Given the description of an element on the screen output the (x, y) to click on. 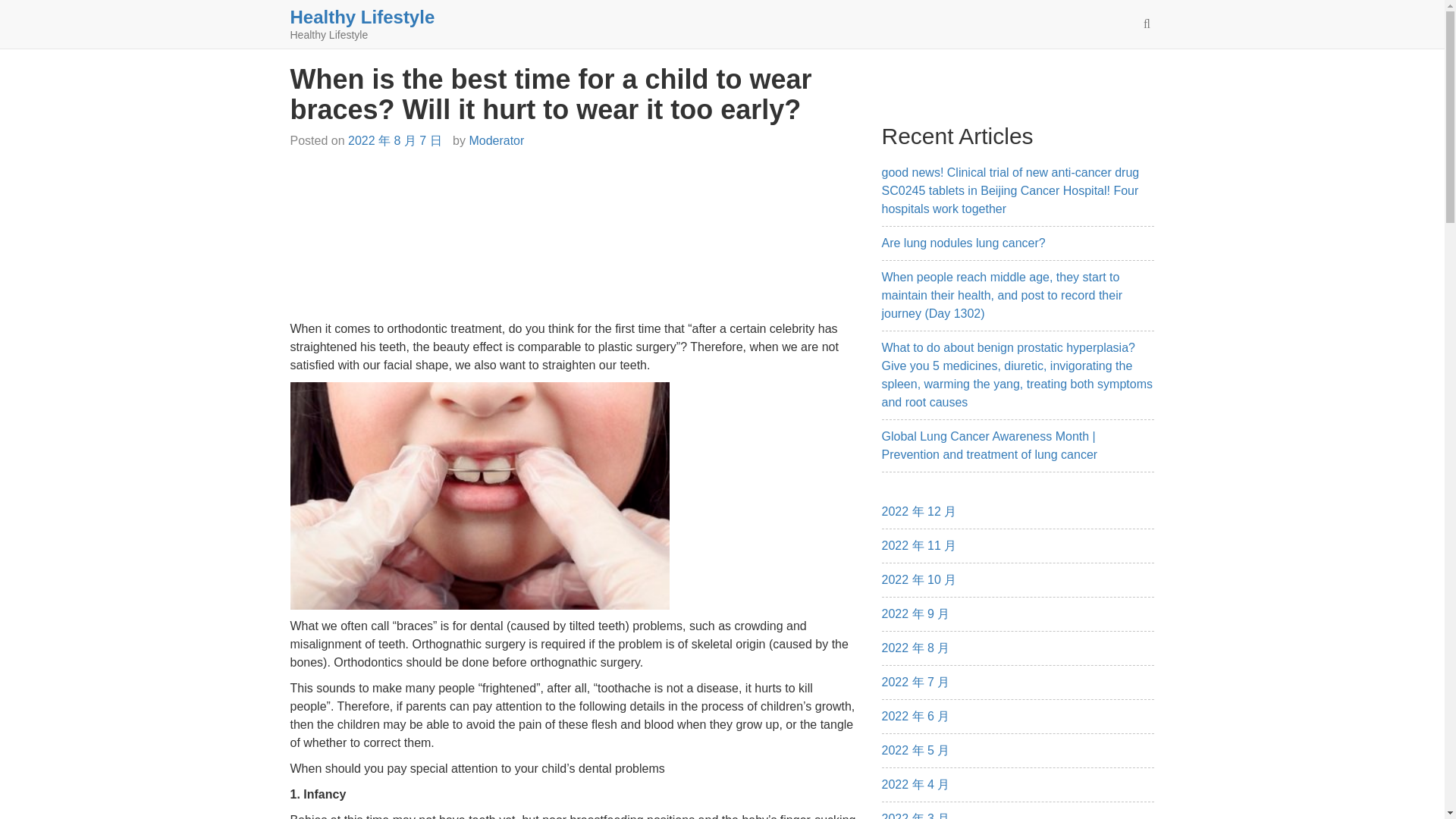
Are lung nodules lung cancer? (962, 242)
Healthy Lifestyle (361, 16)
Moderator (496, 140)
